Given the description of an element on the screen output the (x, y) to click on. 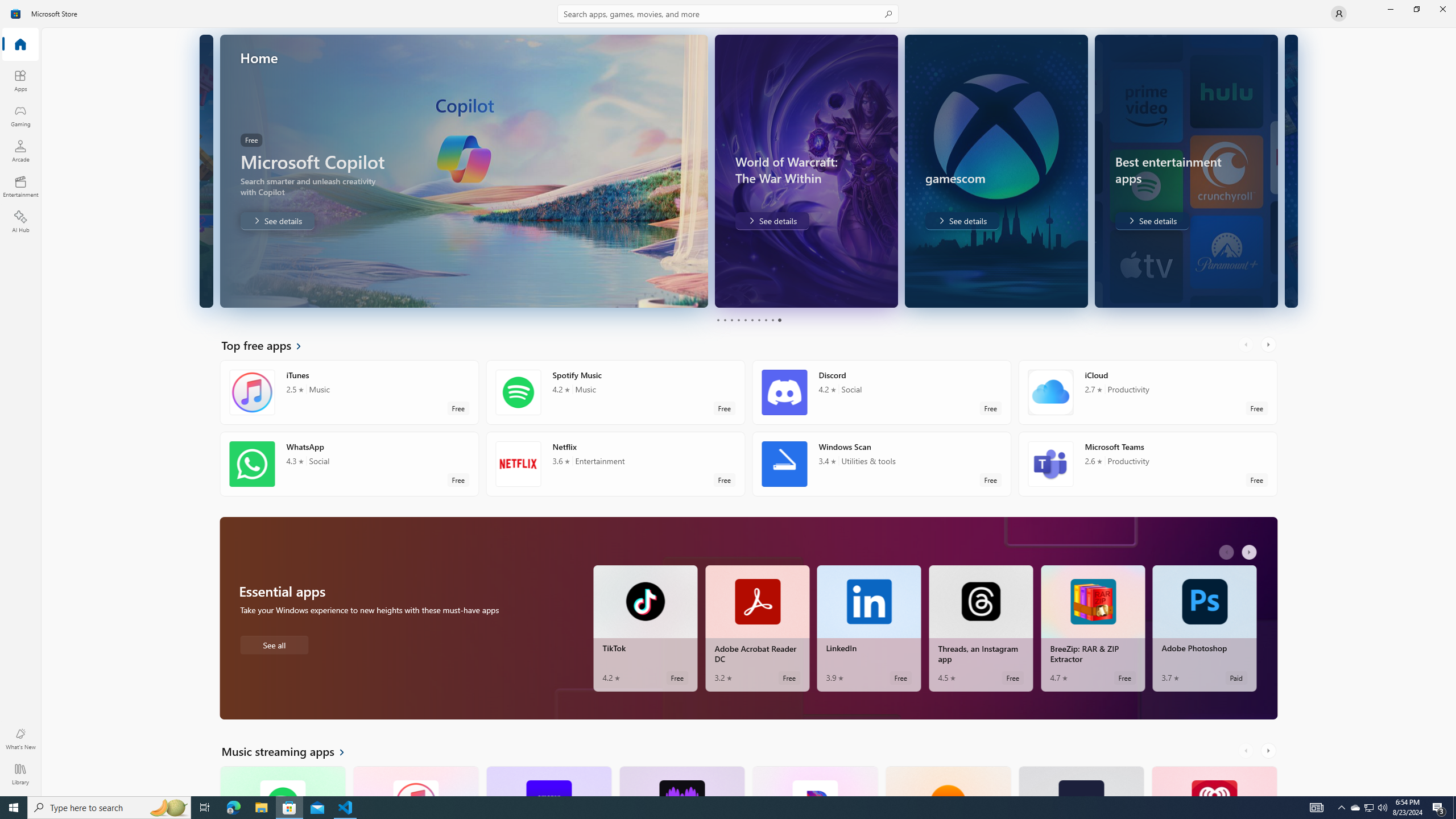
Page 8 (764, 319)
Page 7 (758, 319)
iTunes. Average rating of 2.5 out of five stars. Free   (415, 780)
Class: Image (15, 13)
Page 10 (779, 319)
AutomationID: Image (1292, 170)
See all  Music streaming apps (289, 750)
Library (20, 773)
Page 1 (717, 319)
Netflix. Average rating of 3.6 out of five stars. Free   (615, 463)
